Given the description of an element on the screen output the (x, y) to click on. 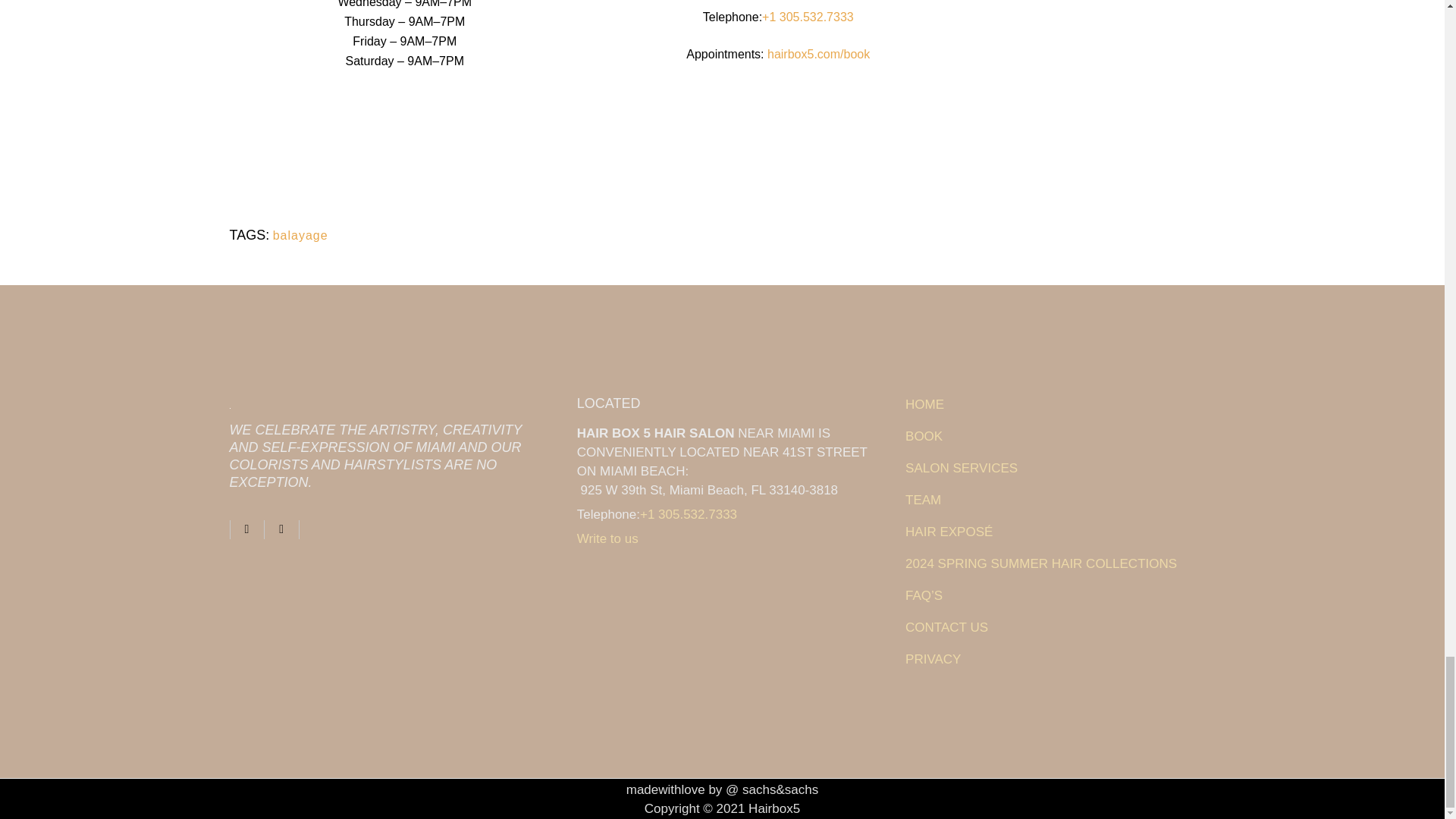
balayage (301, 235)
For the very best in Hair Miami Beach (1059, 531)
